Given the description of an element on the screen output the (x, y) to click on. 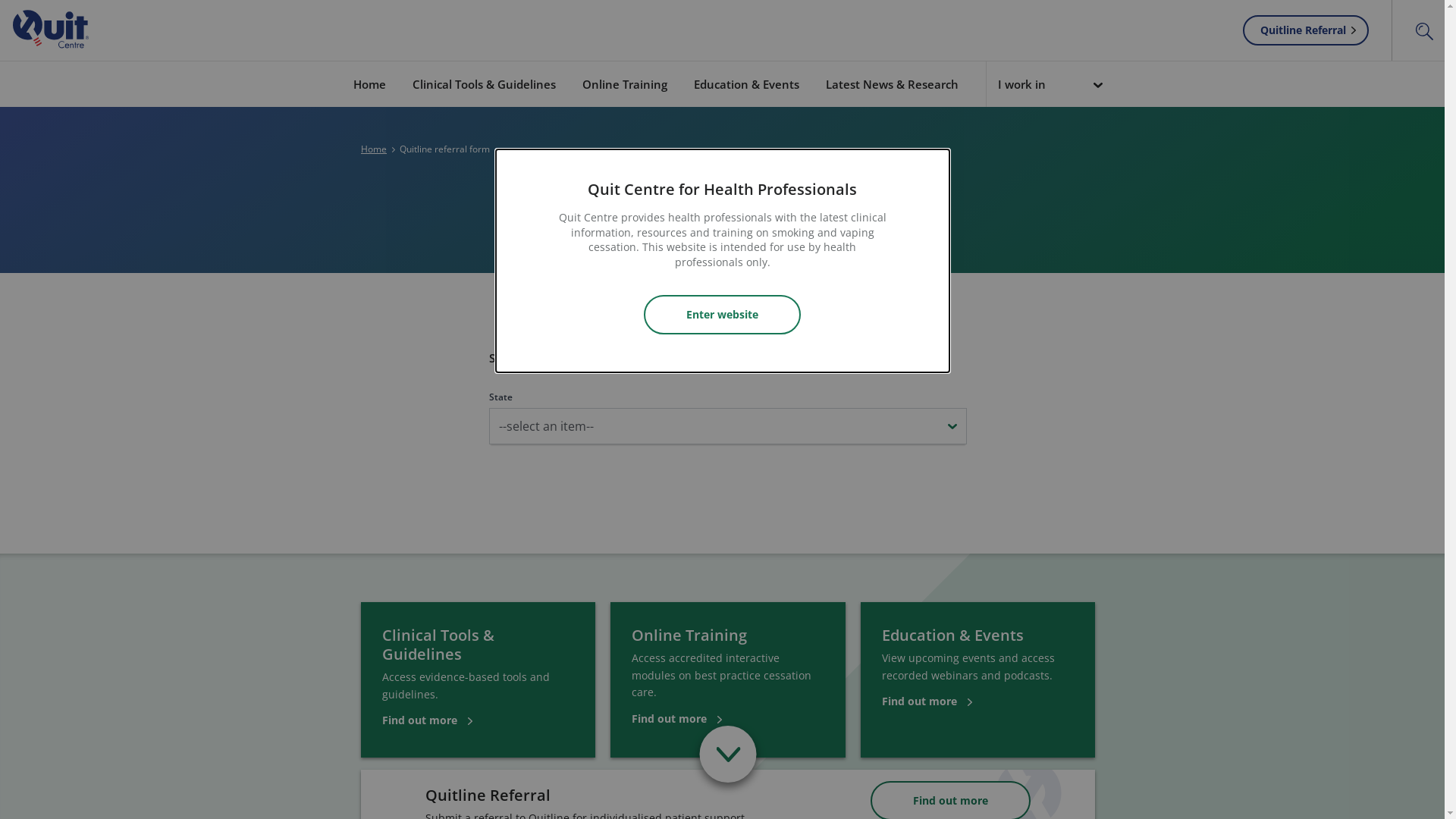
Find out more Element type: text (427, 720)
Enter website Element type: text (721, 314)
Clinical Tools & Guidelines Element type: text (483, 83)
I work in Element type: text (1044, 84)
Find out more Element type: text (926, 701)
Home Element type: text (369, 83)
Education & Events Element type: text (746, 83)
Quitline Referral Element type: text (1305, 30)
Online Training Element type: text (624, 83)
Find out more Element type: text (676, 718)
Home Element type: text (373, 148)
Latest News & Research Element type: text (891, 83)
